Given the description of an element on the screen output the (x, y) to click on. 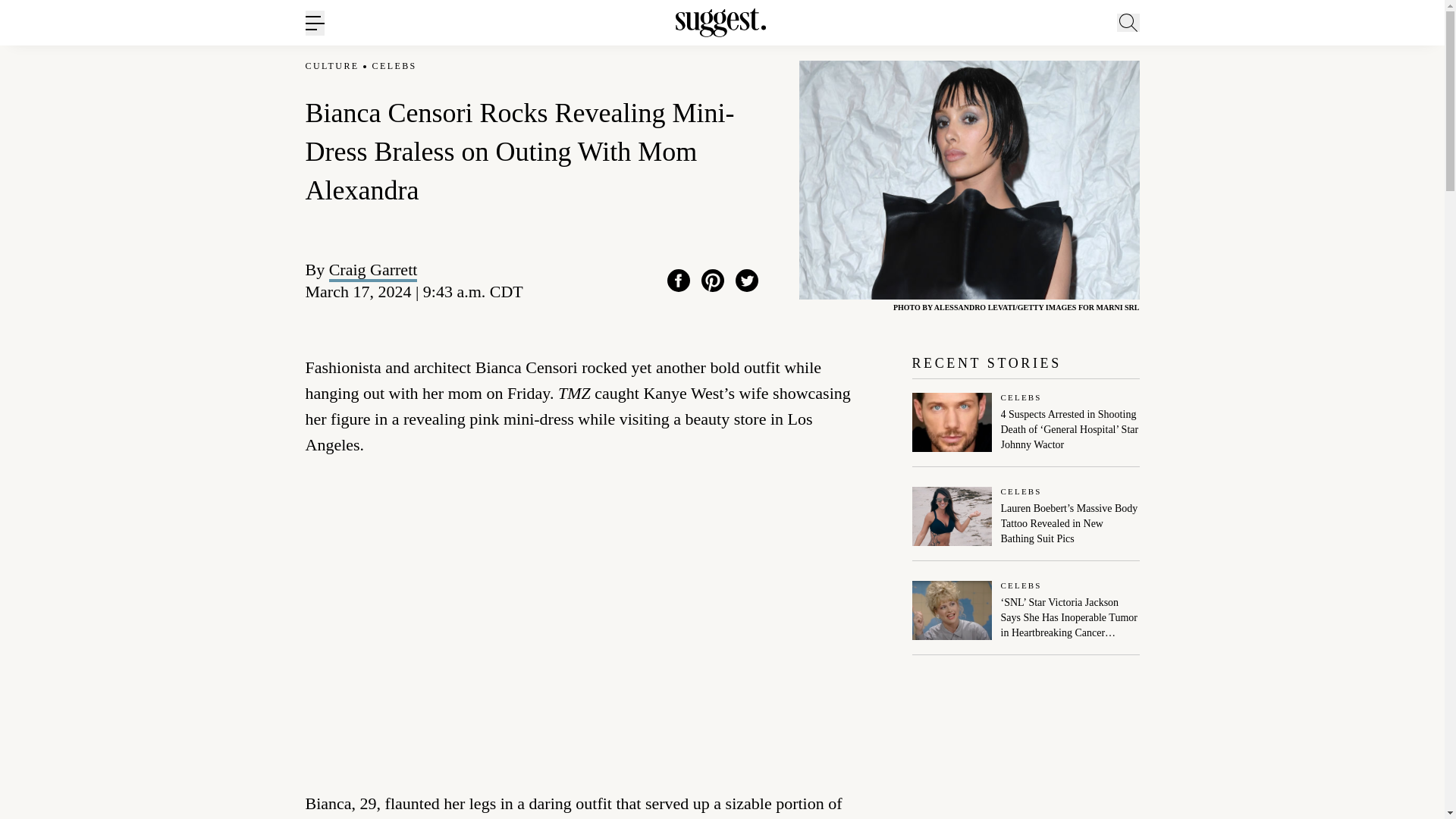
Celebs (1070, 491)
Pinterest (712, 280)
Search (1170, 95)
TMZ (574, 393)
Facebook (678, 280)
CELEBS (394, 66)
Celebs (1070, 398)
CULTURE (331, 66)
Celebs (1070, 586)
Twitter (746, 280)
